Given the description of an element on the screen output the (x, y) to click on. 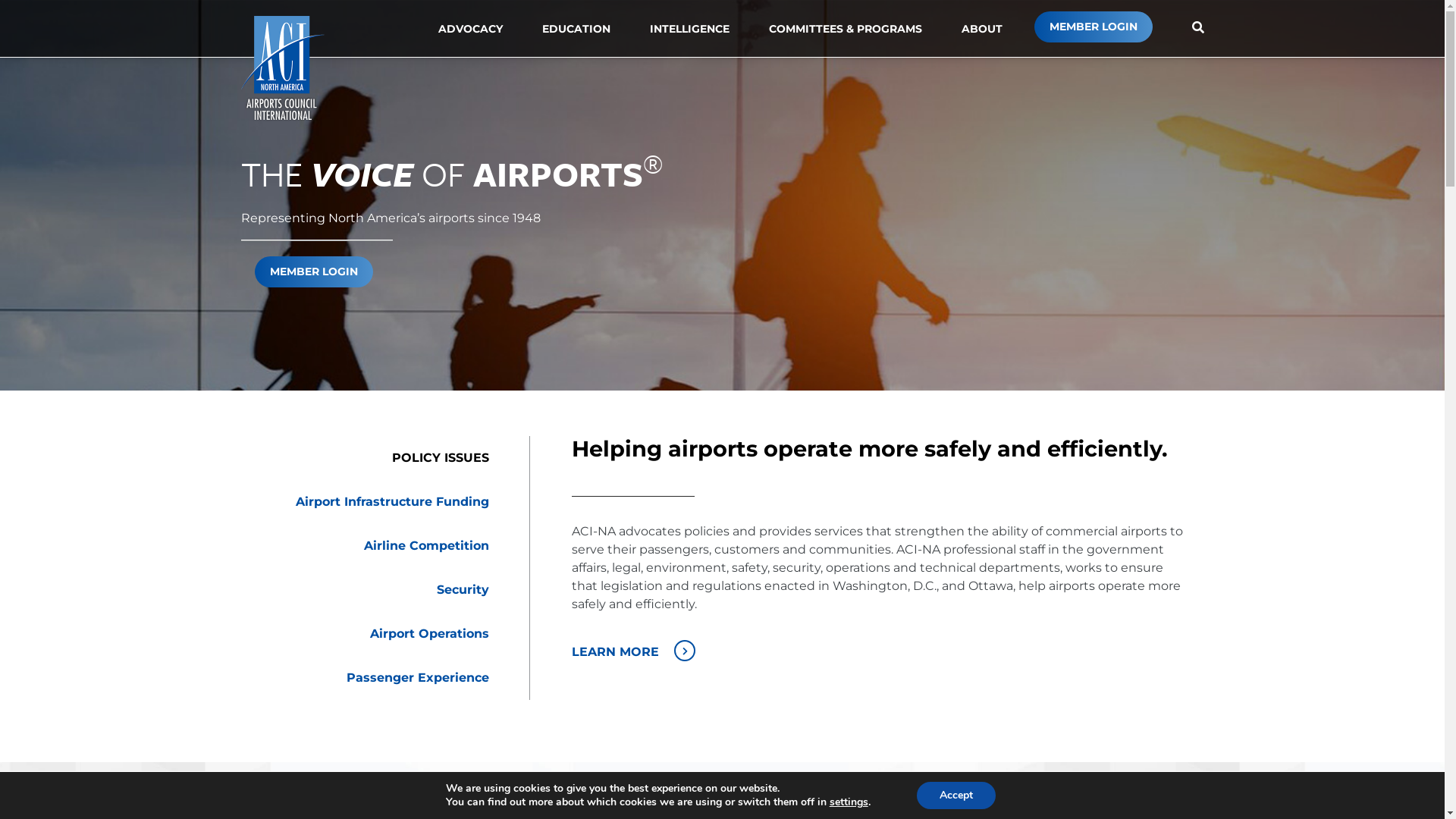
Airport Operations Element type: text (373, 633)
LEARN MORE Element type: text (880, 650)
POLICY ISSUES Element type: text (373, 458)
COMMITTEES & PROGRAMS Element type: text (845, 28)
Accept Element type: text (955, 795)
EDUCATION Element type: text (575, 28)
Airline Competition Element type: text (373, 545)
Airport Infrastructure Funding Element type: text (373, 502)
ADVOCACY Element type: text (470, 28)
ABOUT Element type: text (981, 28)
Security Element type: text (373, 589)
MEMBER LOGIN Element type: text (1093, 26)
Passenger Experience Element type: text (373, 677)
MEMBER LOGIN Element type: text (313, 271)
INTELLIGENCE Element type: text (688, 28)
